Given the description of an element on the screen output the (x, y) to click on. 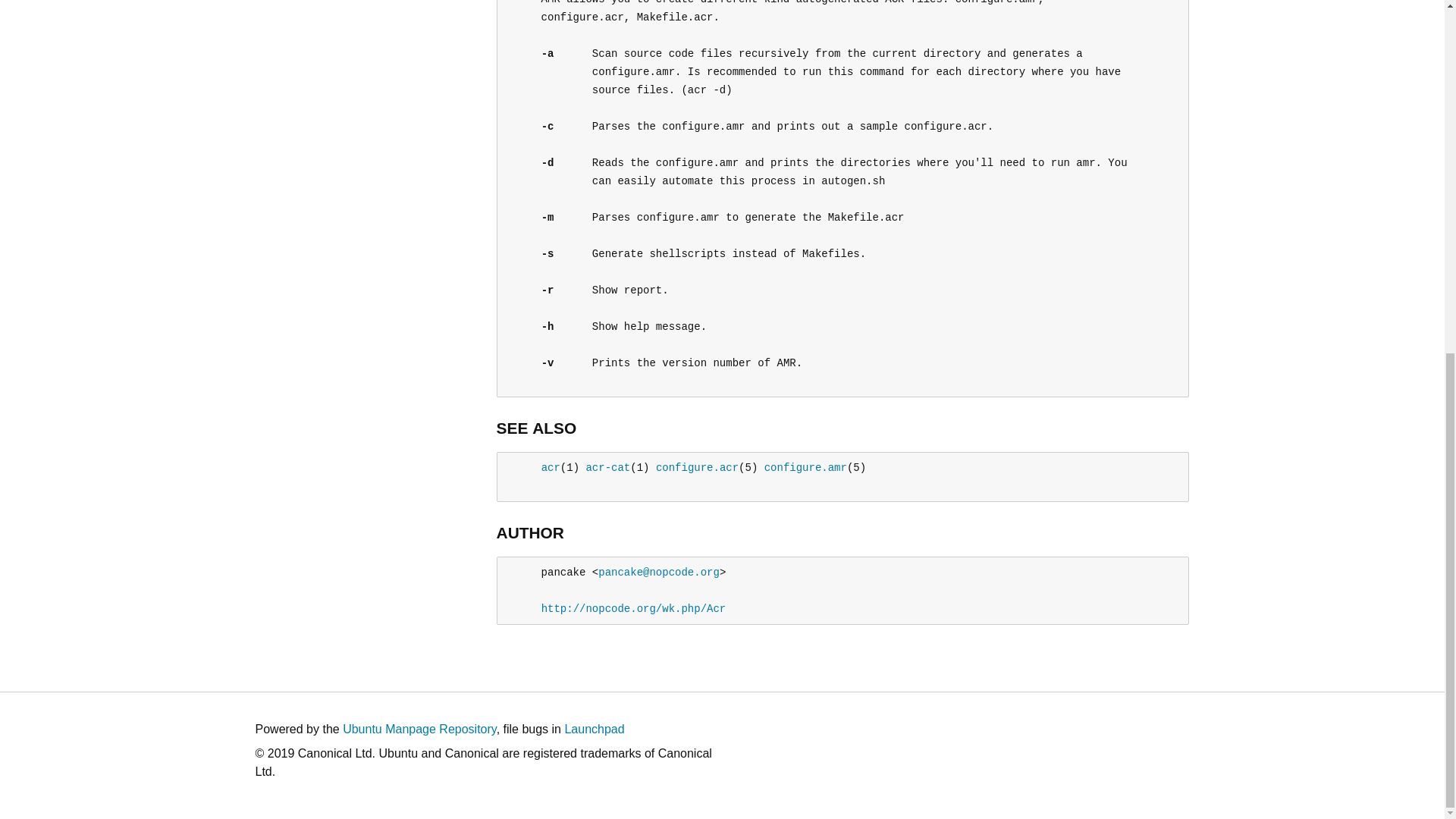
Launchpad (594, 728)
configure.acr (697, 467)
acr-cat (607, 467)
Ubuntu Manpage Repository (419, 728)
configure.amr (805, 467)
acr (550, 467)
